Given the description of an element on the screen output the (x, y) to click on. 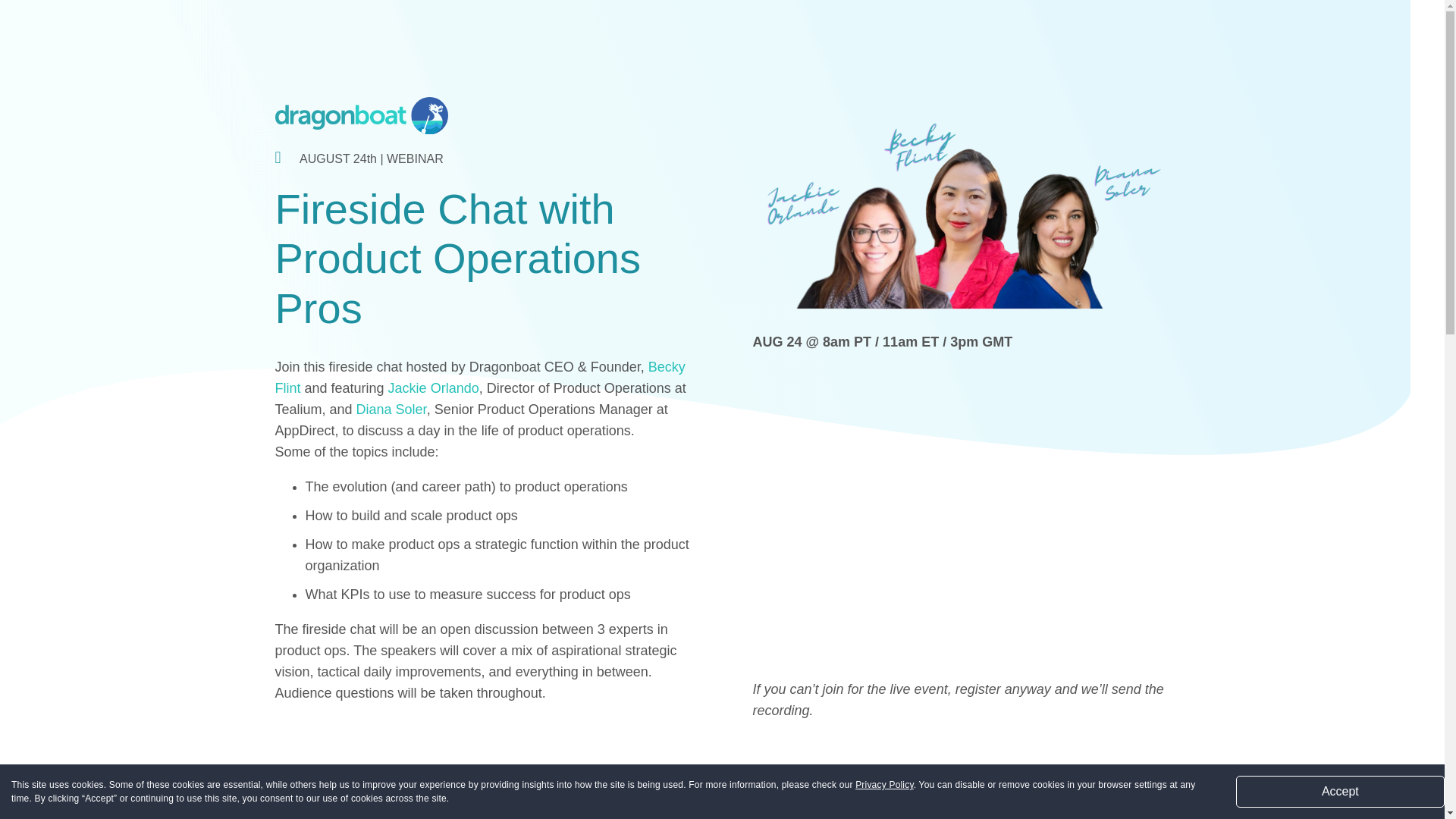
Privacy Policy (885, 784)
Becky Flint (479, 377)
Dragonboat (360, 115)
1-1 (960, 214)
Jackie Orlando (433, 387)
Diana Soler (391, 409)
